Given the description of an element on the screen output the (x, y) to click on. 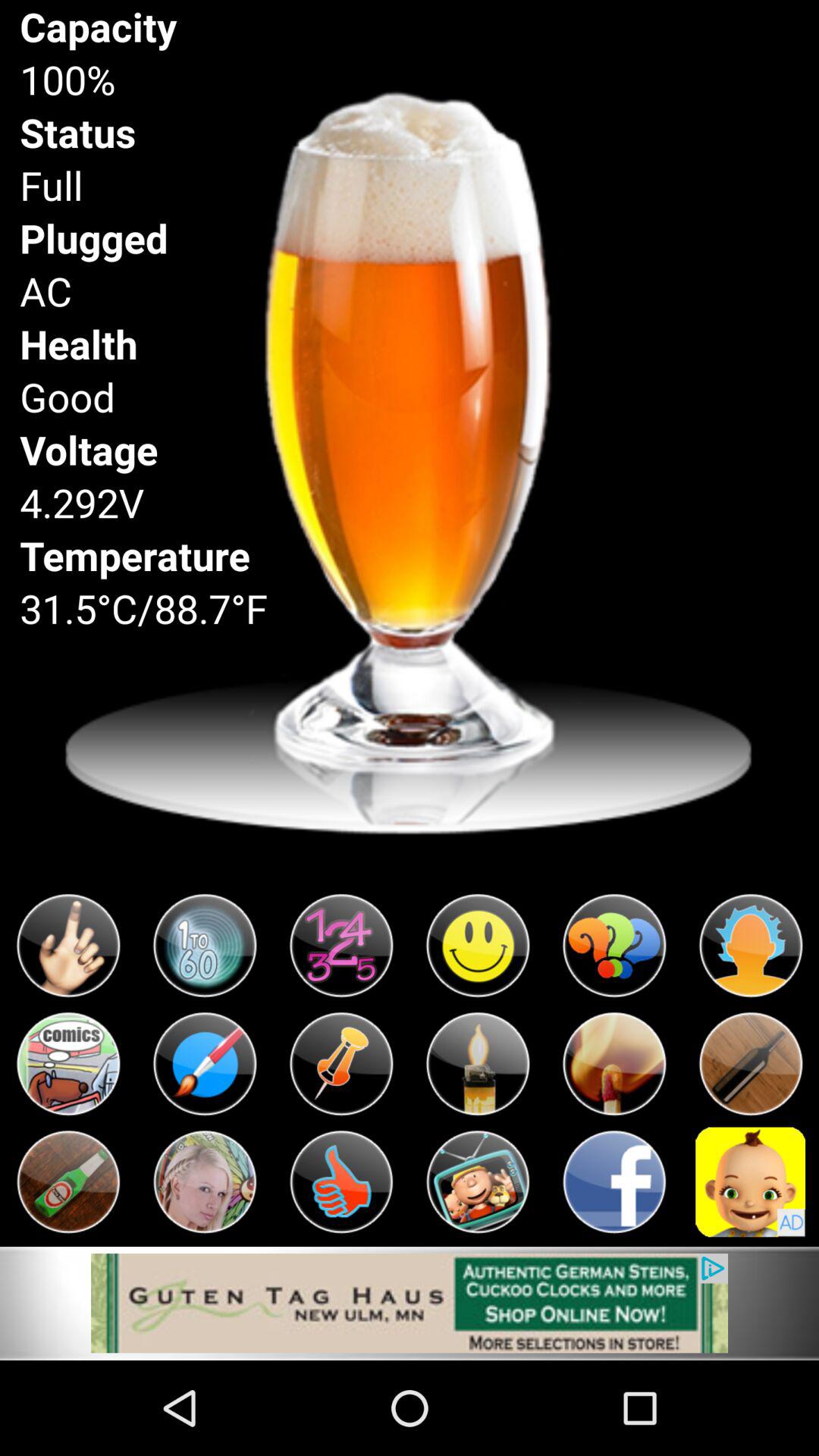
select option (204, 1182)
